Given the description of an element on the screen output the (x, y) to click on. 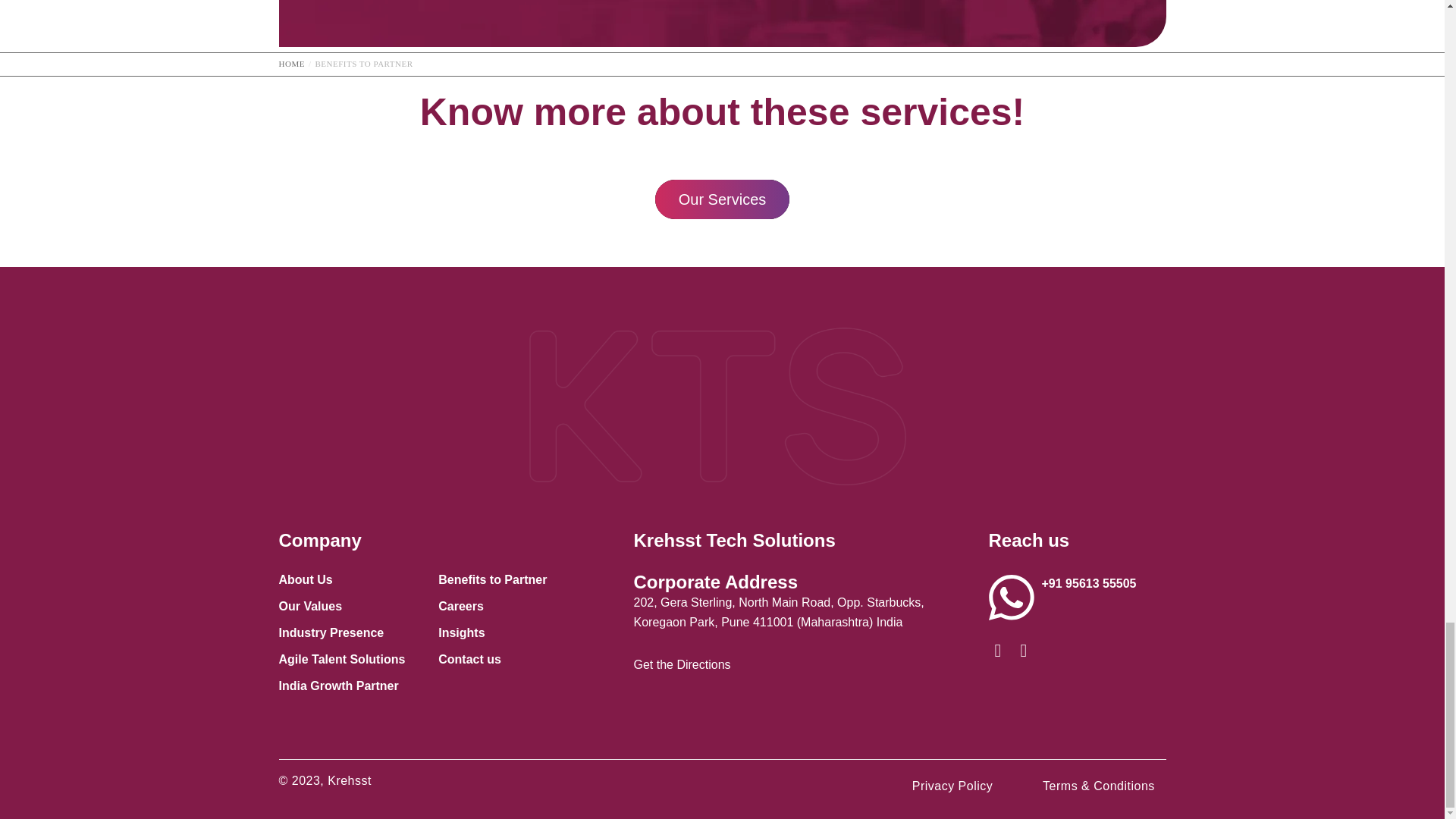
Privacy Policy (952, 785)
Insights (461, 632)
Agile Talent Solutions (342, 658)
Contact us (469, 658)
India Growth Partner (338, 685)
Contact us (469, 658)
Our Services (722, 199)
Benefits to Partner (492, 579)
Agile Talent Solutions (342, 658)
Careers (460, 605)
